Given the description of an element on the screen output the (x, y) to click on. 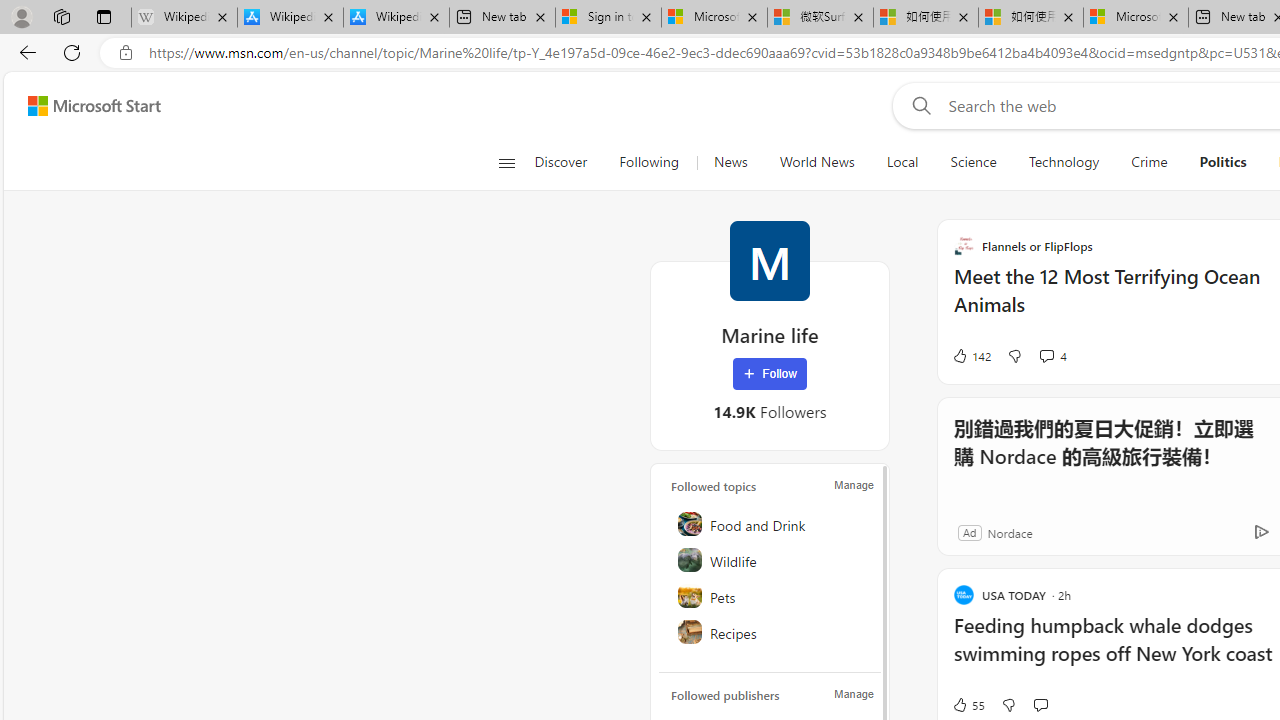
Wildlife (771, 560)
Pets (771, 596)
Meet the 12 Most Terrifying Ocean Animals (1115, 300)
